Given the description of an element on the screen output the (x, y) to click on. 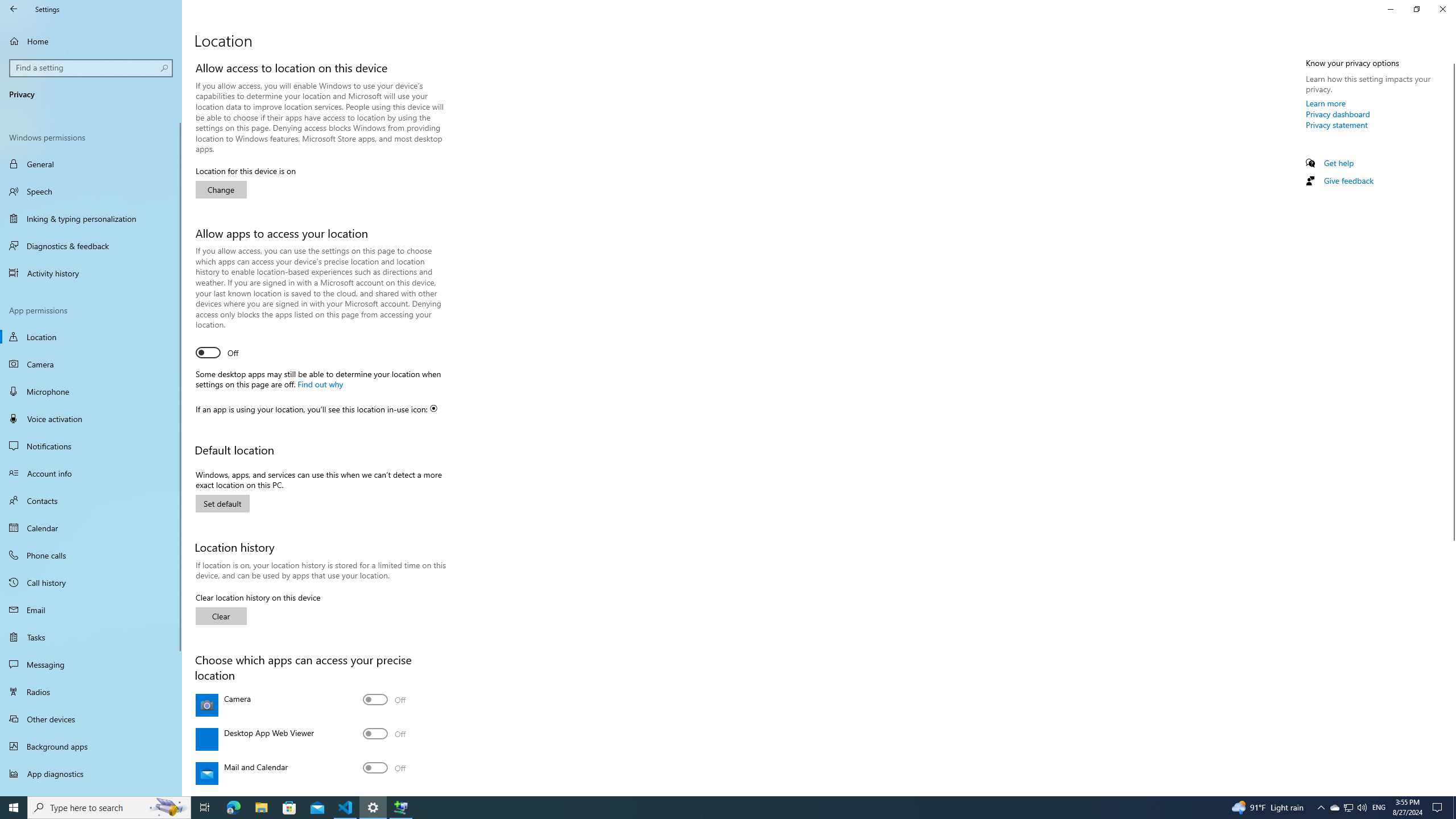
Location (91, 336)
General (91, 163)
Get help (1338, 162)
Learn more (1326, 102)
Calendar (91, 527)
Change (221, 189)
Camera (384, 699)
Privacy statement (1336, 124)
Notifications (91, 445)
Mail and Calendar (384, 767)
Account info (91, 472)
Clear (221, 615)
Phone calls (91, 554)
Automatic file downloads (91, 791)
